Given the description of an element on the screen output the (x, y) to click on. 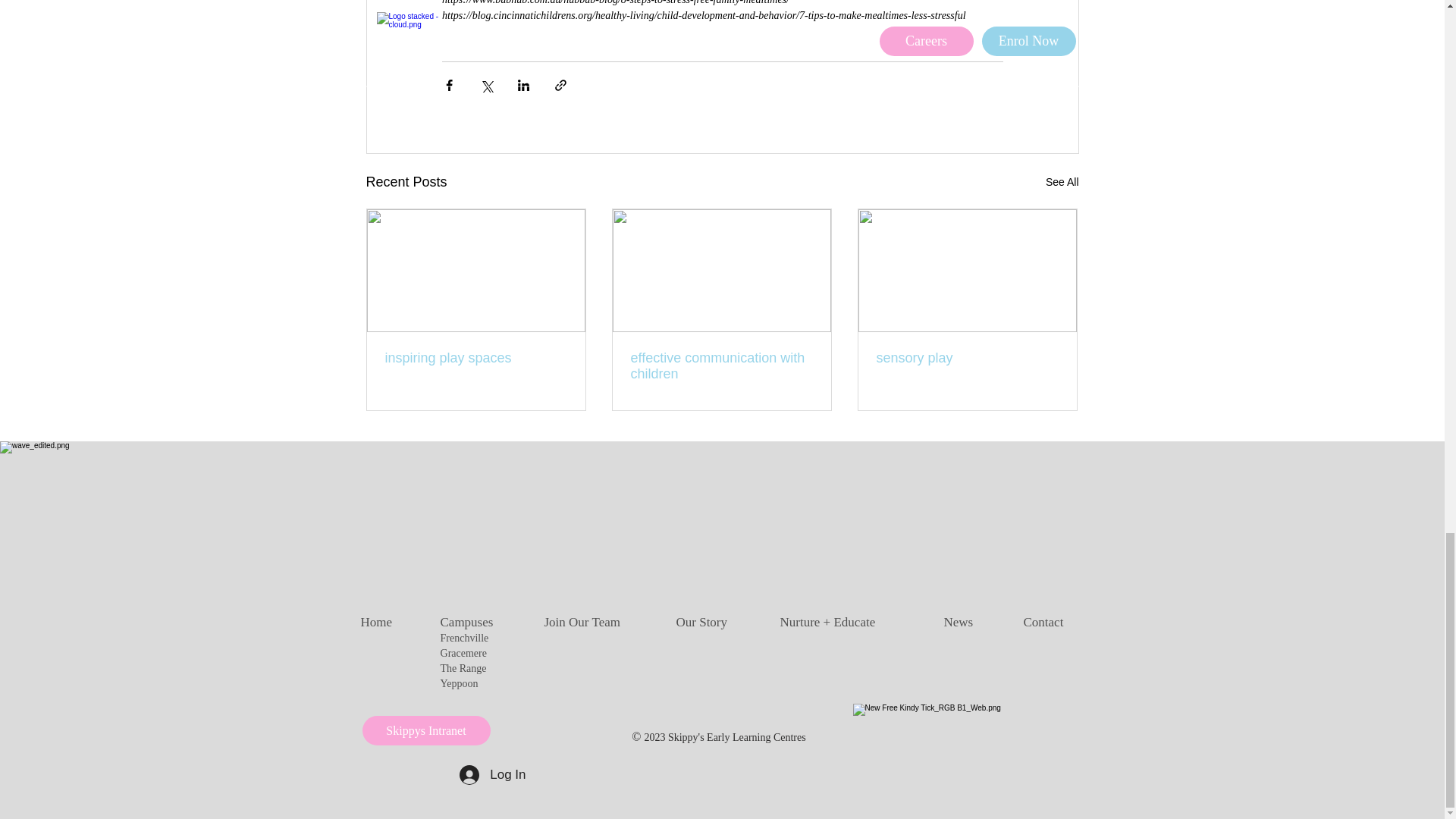
See All (1061, 182)
inspiring play spaces (476, 358)
effective communication with children (721, 366)
